Given the description of an element on the screen output the (x, y) to click on. 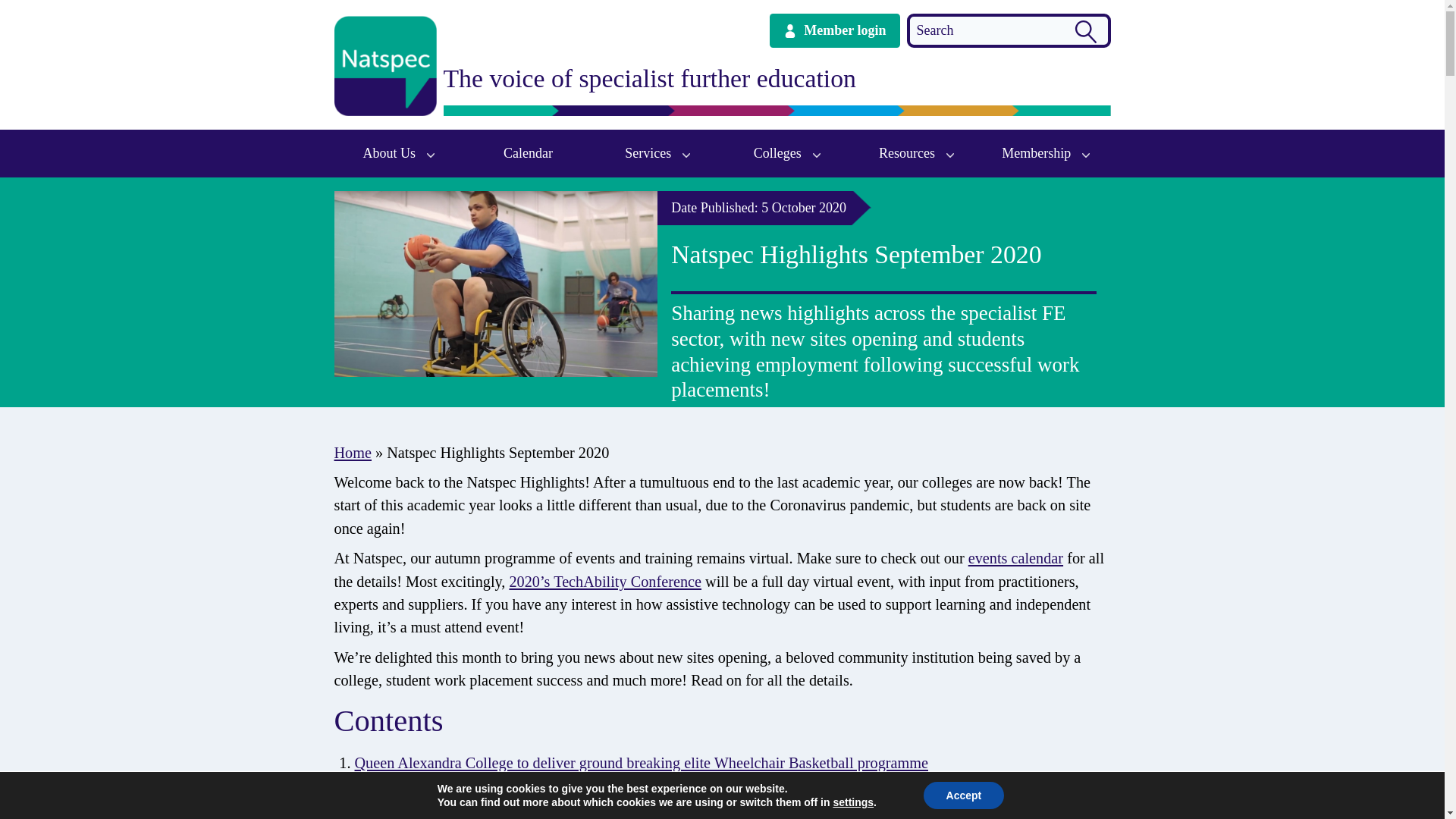
About Us (398, 153)
Services (657, 153)
Membership (1045, 153)
Resources (916, 153)
Member login (834, 30)
Colleges (786, 153)
Calendar (527, 153)
